Given the description of an element on the screen output the (x, y) to click on. 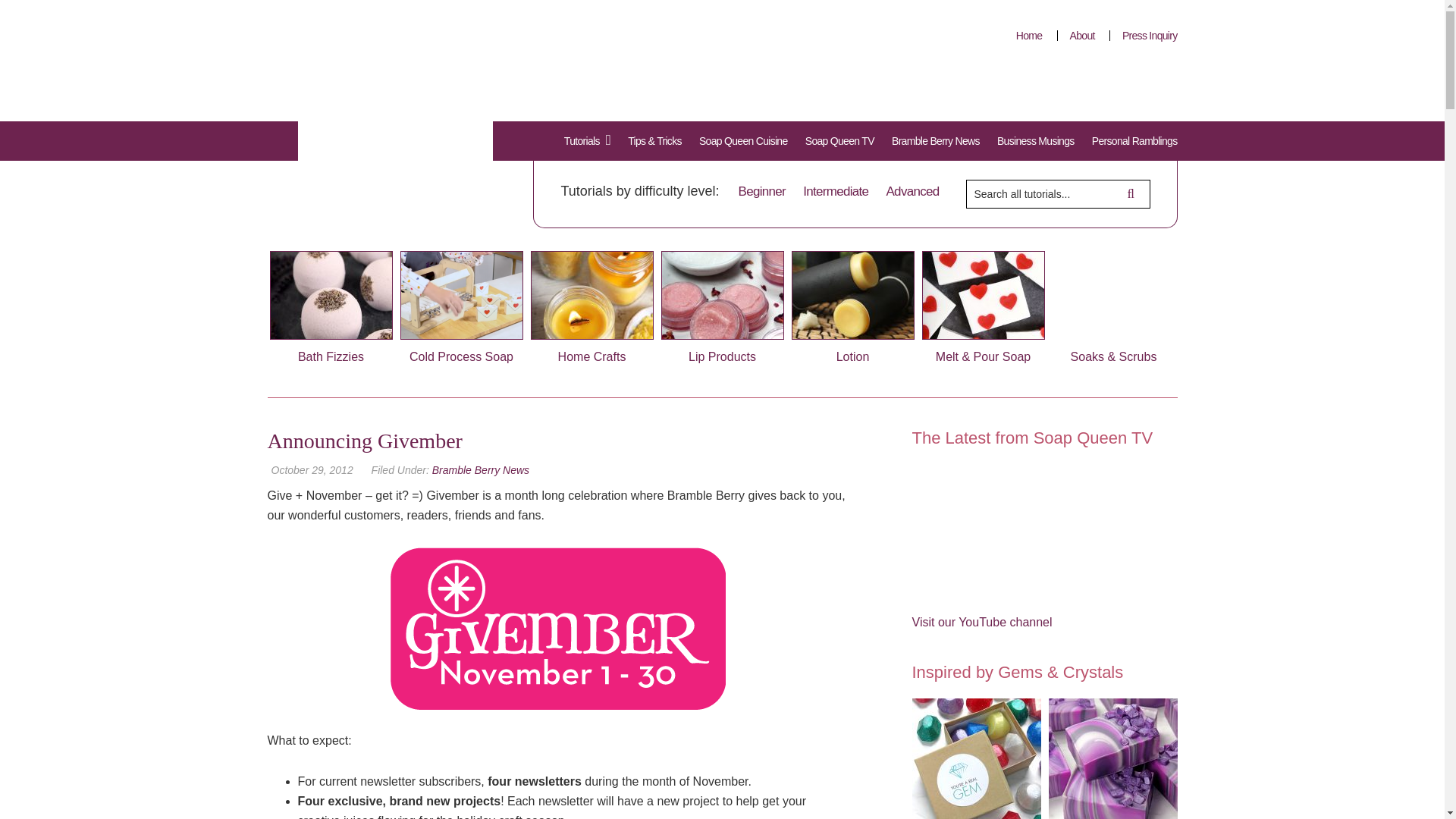
Home Crafts (592, 306)
About (1081, 35)
Visit our YouTube channel (981, 621)
Agate Spin Swirl Soap Tutorial (1112, 758)
Givember (557, 628)
Bramble Berry News (480, 469)
Lip Products (722, 306)
Lotion (853, 306)
Advanced (911, 191)
Soap Queen (383, 125)
